Given the description of an element on the screen output the (x, y) to click on. 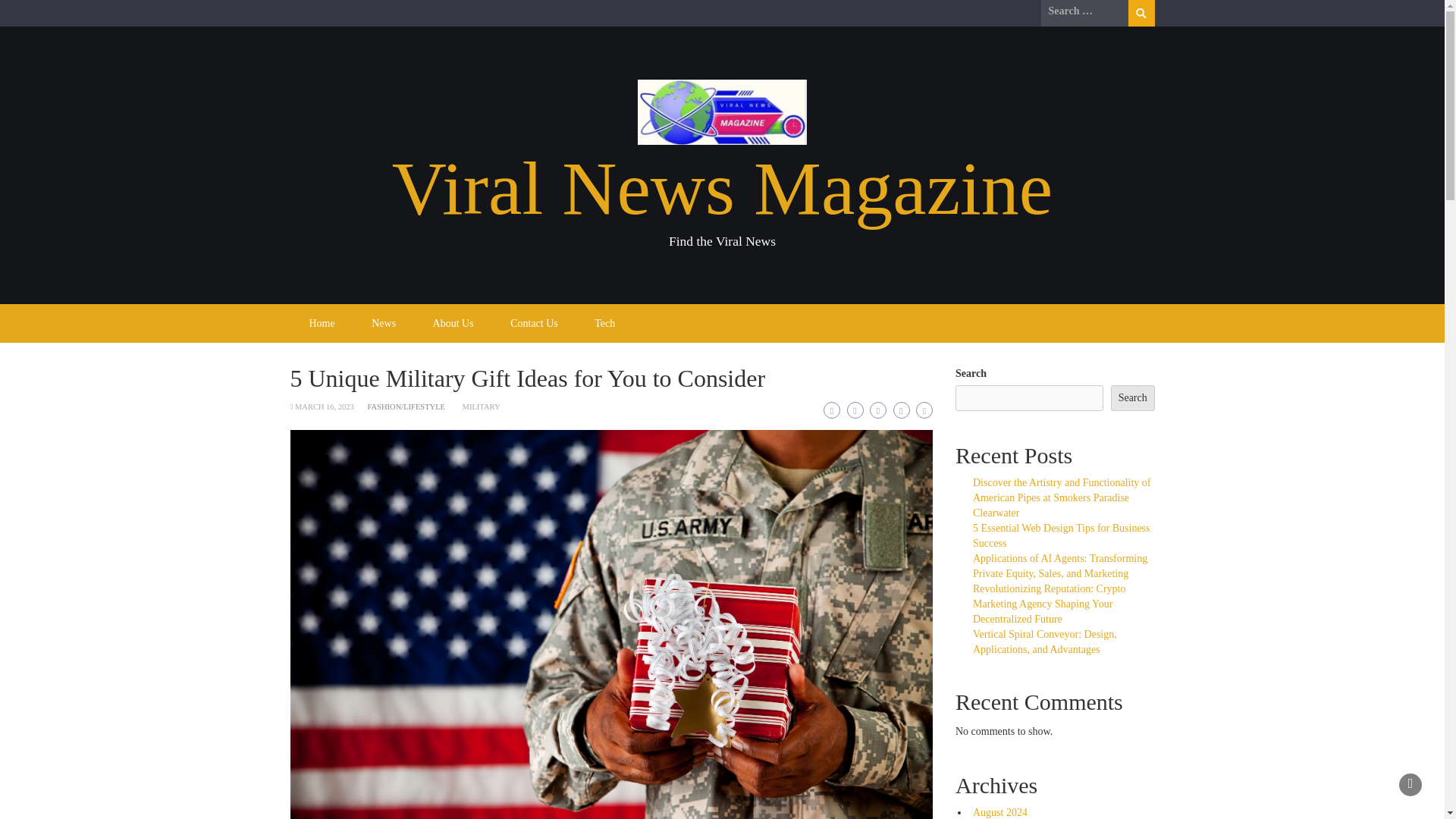
MARCH 16, 2023 (324, 406)
MILITARY (481, 406)
About Us (453, 323)
Search for: (1083, 11)
Tech (604, 323)
Viral News Magazine (721, 188)
News (383, 323)
Search (1141, 13)
Search (1132, 397)
Contact Us (534, 323)
Search (1141, 13)
Home (322, 323)
